Given the description of an element on the screen output the (x, y) to click on. 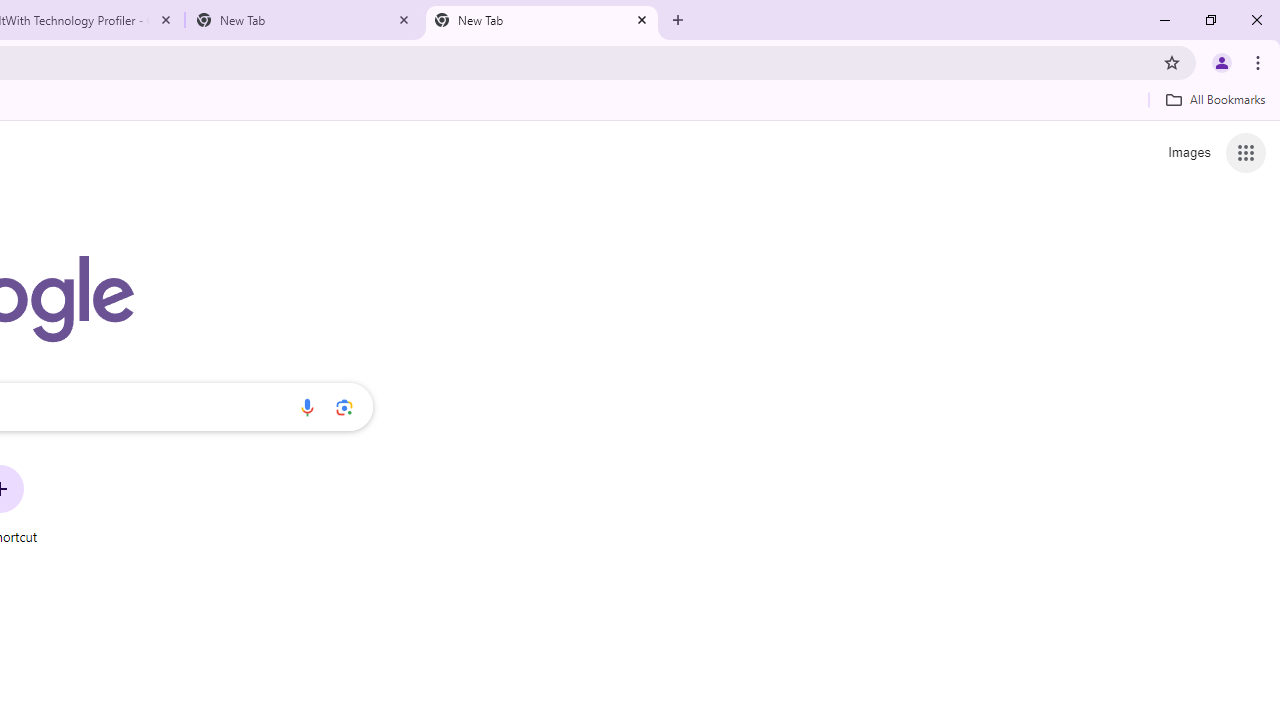
Search by voice (307, 407)
All Bookmarks (1215, 99)
Search for Images  (1188, 152)
Search by image (344, 407)
New Tab (304, 20)
New Tab (541, 20)
